Given the description of an element on the screen output the (x, y) to click on. 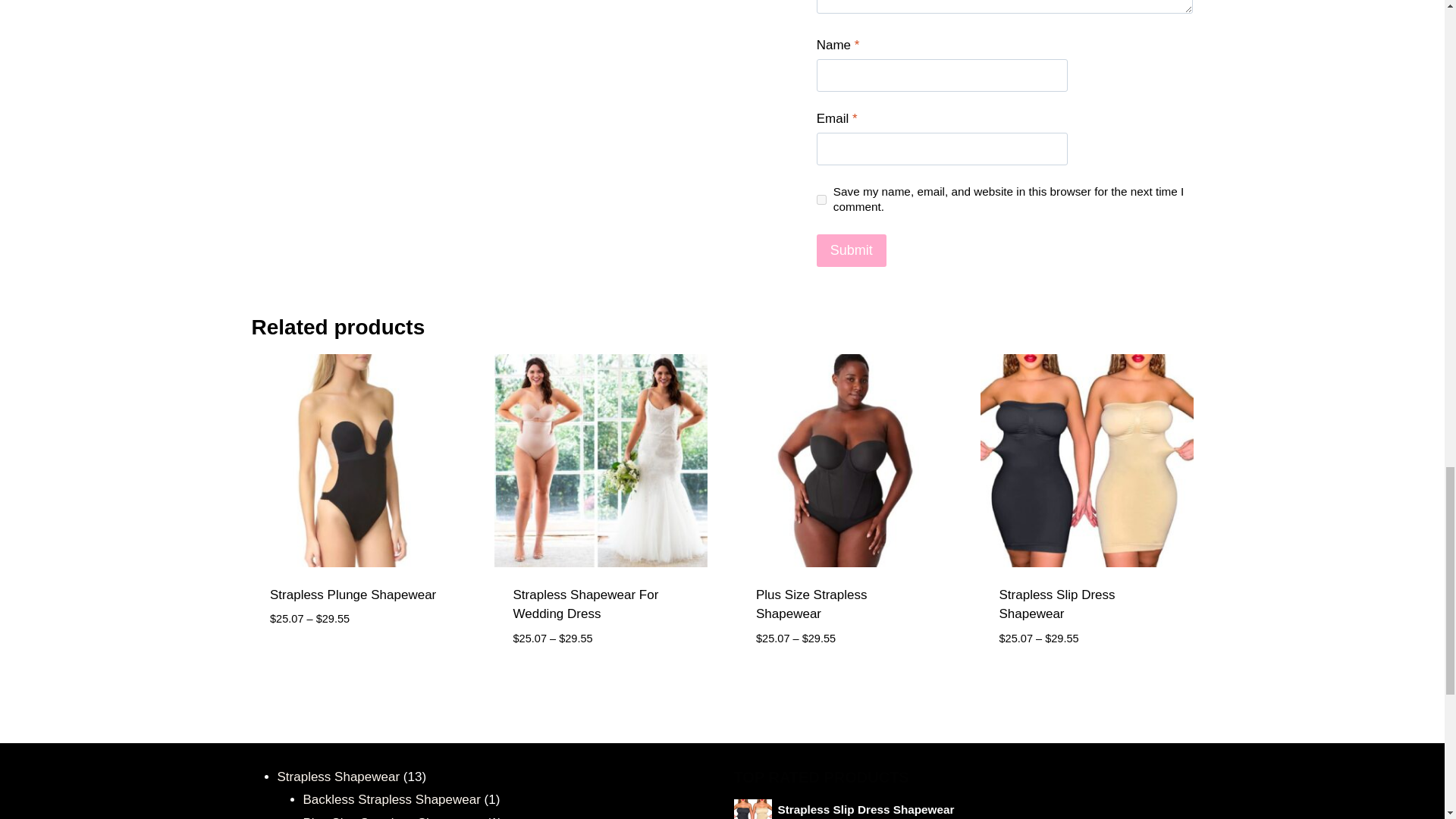
Backless Strapless Shapewear (391, 799)
Strapless Plunge Shapewear (352, 594)
Plus Size Strapless Shapewear (810, 604)
Submit (851, 250)
Strapless Slip Dress Shapewear (1056, 604)
yes (821, 199)
Submit (851, 250)
Strapless Shapewear For Wedding Dress (585, 604)
Plus Size Strapless Shapewear (392, 817)
Strapless Shapewear (339, 776)
